Given the description of an element on the screen output the (x, y) to click on. 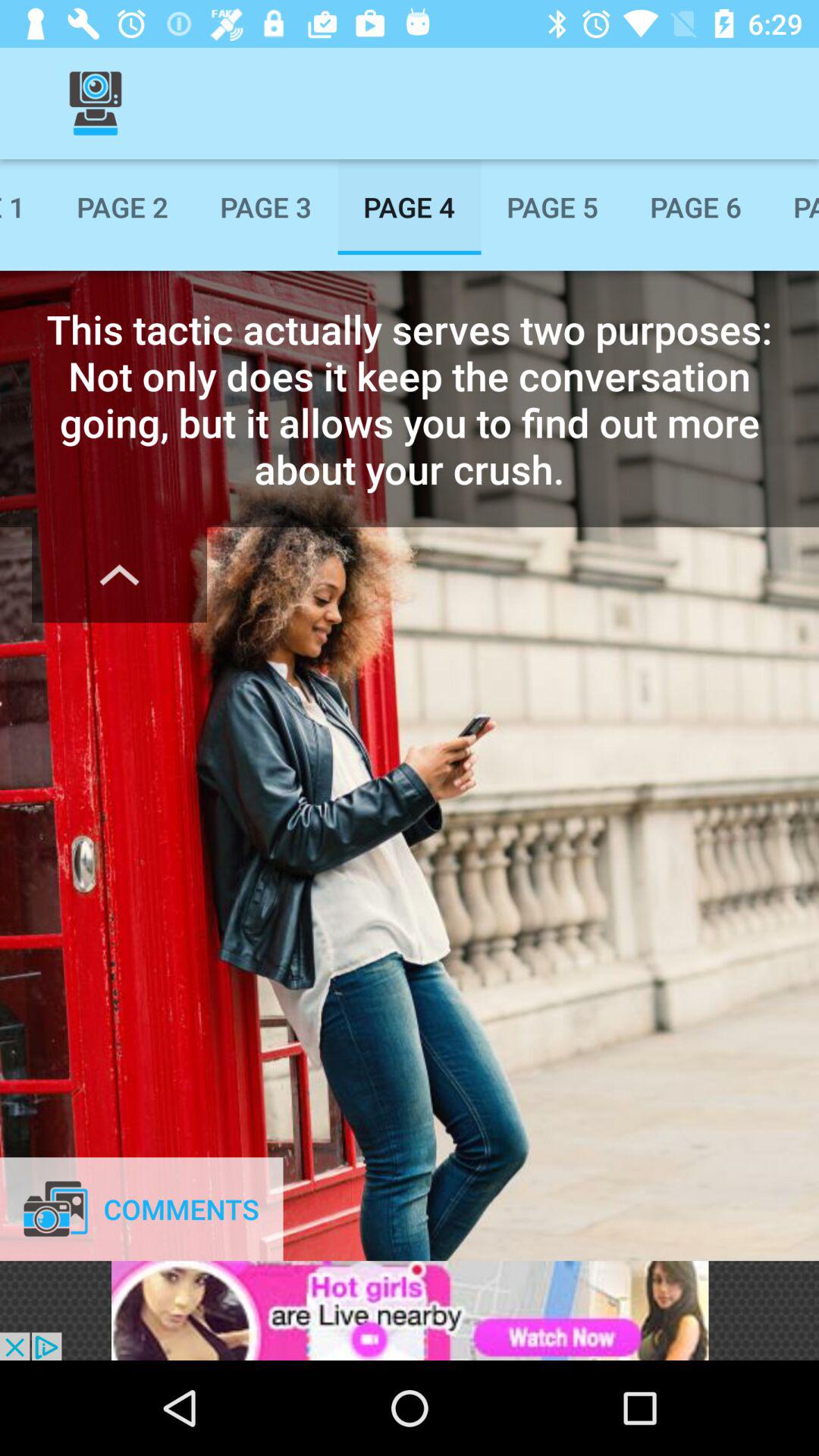
toggle the advertisement option (409, 1310)
